Given the description of an element on the screen output the (x, y) to click on. 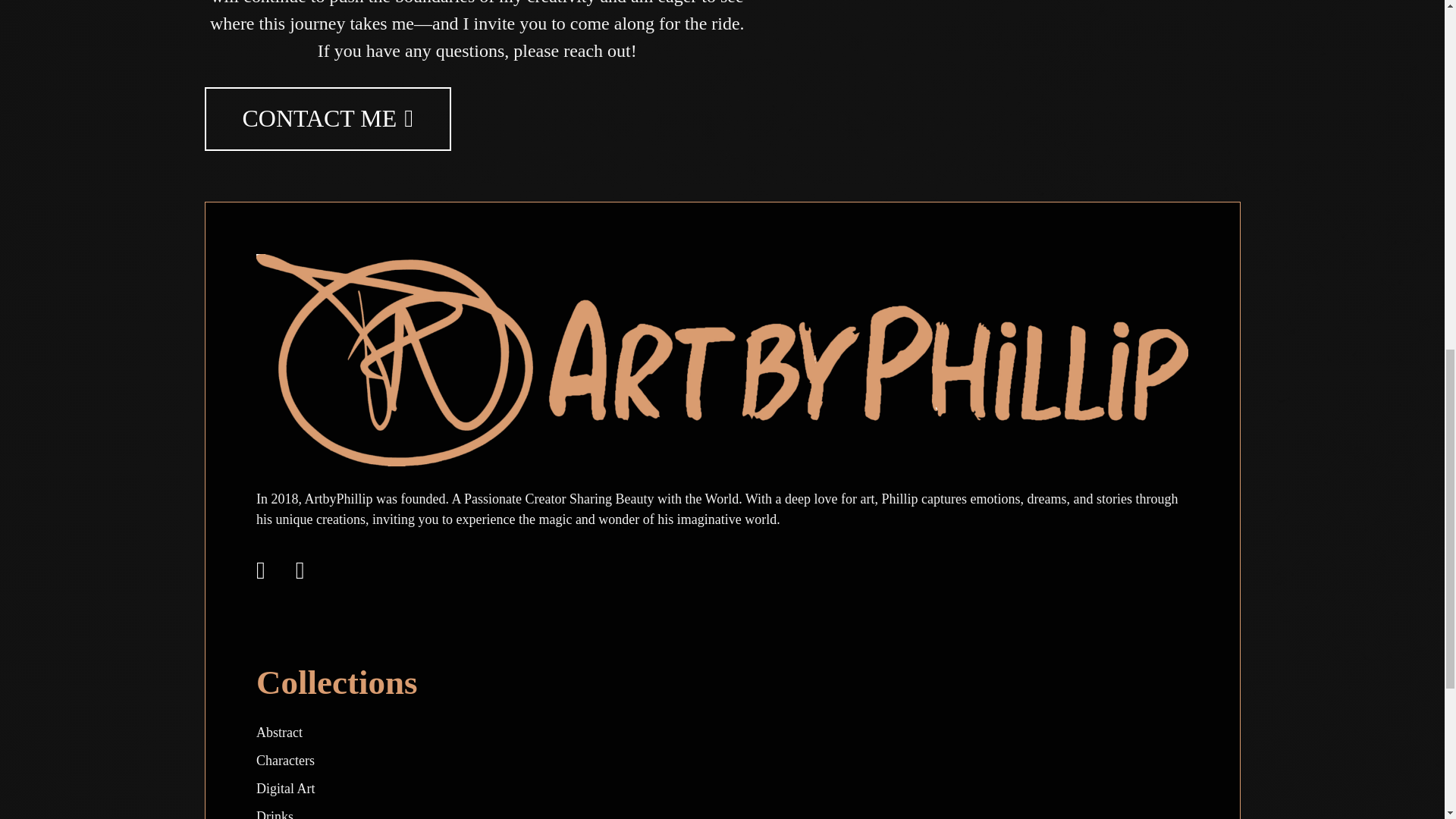
CONTACT ME (328, 118)
Abstract (279, 732)
Drinks (275, 814)
Drinks (275, 814)
home (722, 358)
Digital Art (285, 788)
Digital Art (285, 788)
Characters (285, 760)
Characters (285, 760)
Abstract (279, 732)
